Given the description of an element on the screen output the (x, y) to click on. 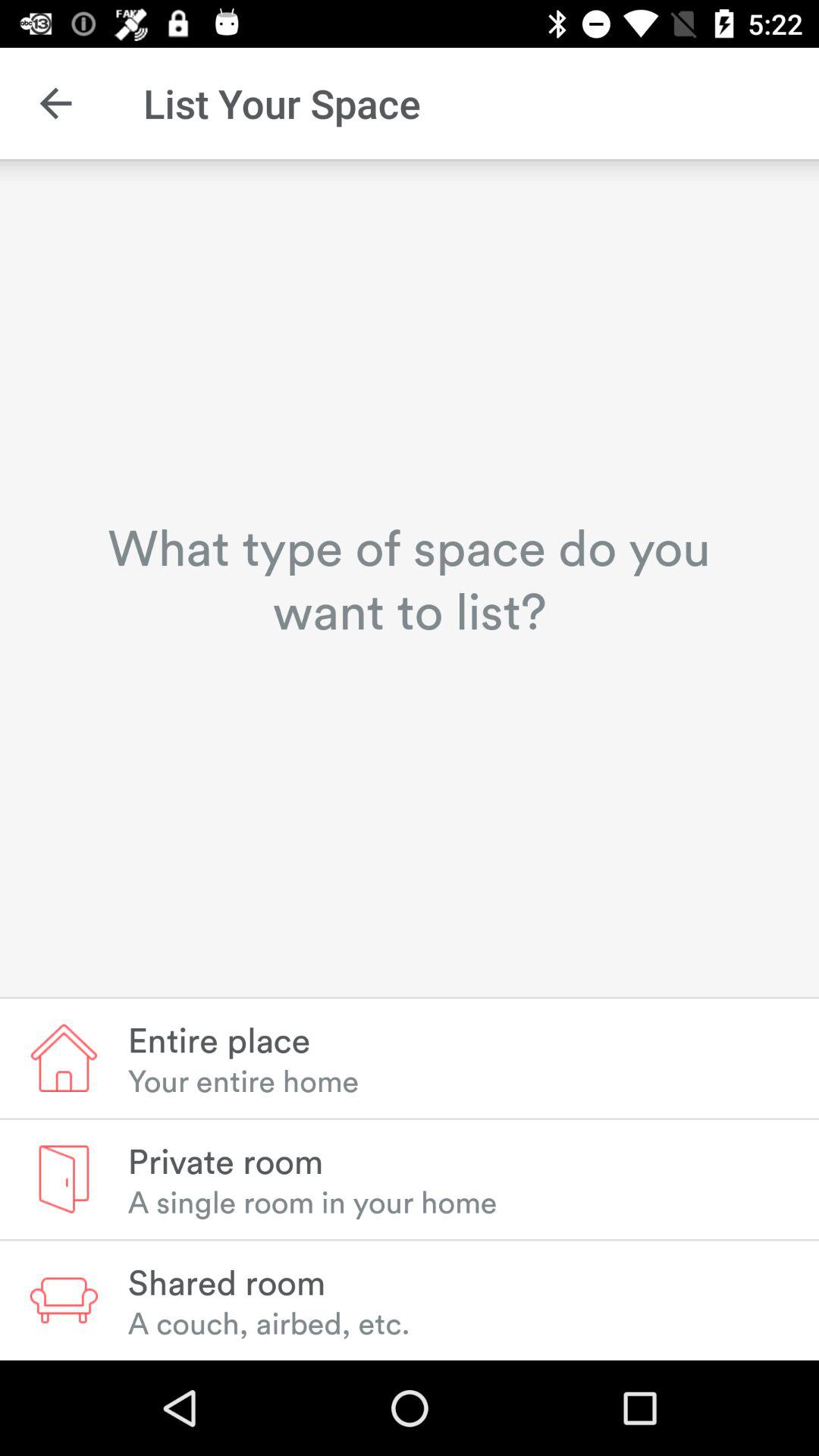
click the icon to the left of the list your space item (55, 103)
